Given the description of an element on the screen output the (x, y) to click on. 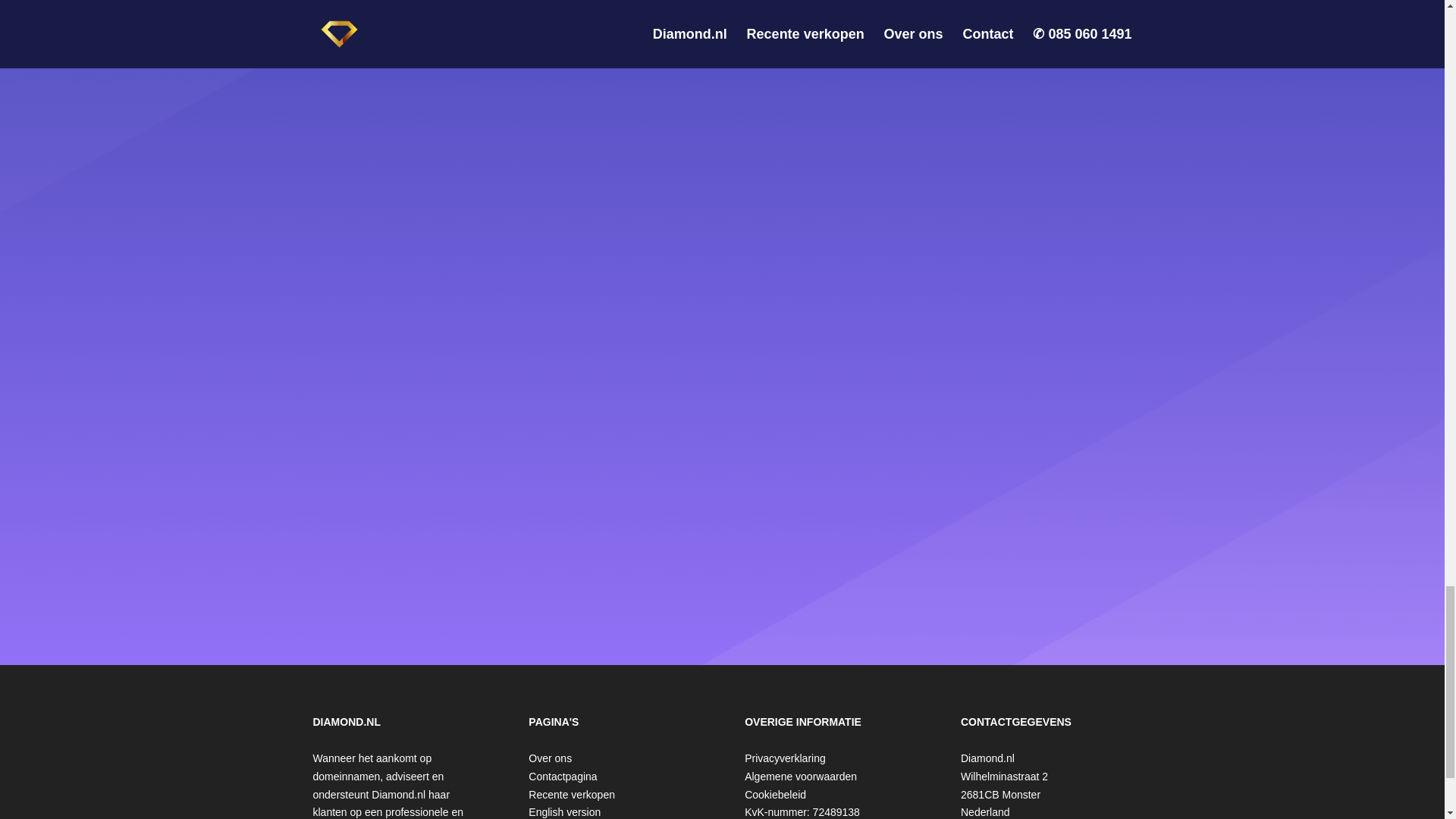
Algemene voorwaarden (800, 776)
English version (563, 811)
Cookiebeleid Diamond.nl (775, 794)
Over Diamond.nl (550, 758)
Contact opnemen (562, 776)
Recente verkopen (571, 794)
English version (563, 811)
Contactpagina (562, 776)
Privacyverklaring Diamond.nl (784, 758)
Over ons (550, 758)
Algemene voorwaarden (800, 776)
Privacyverklaring (784, 758)
Cookiebeleid (775, 794)
Meer recent verkochte domeinnamen bekijken (571, 794)
